Given the description of an element on the screen output the (x, y) to click on. 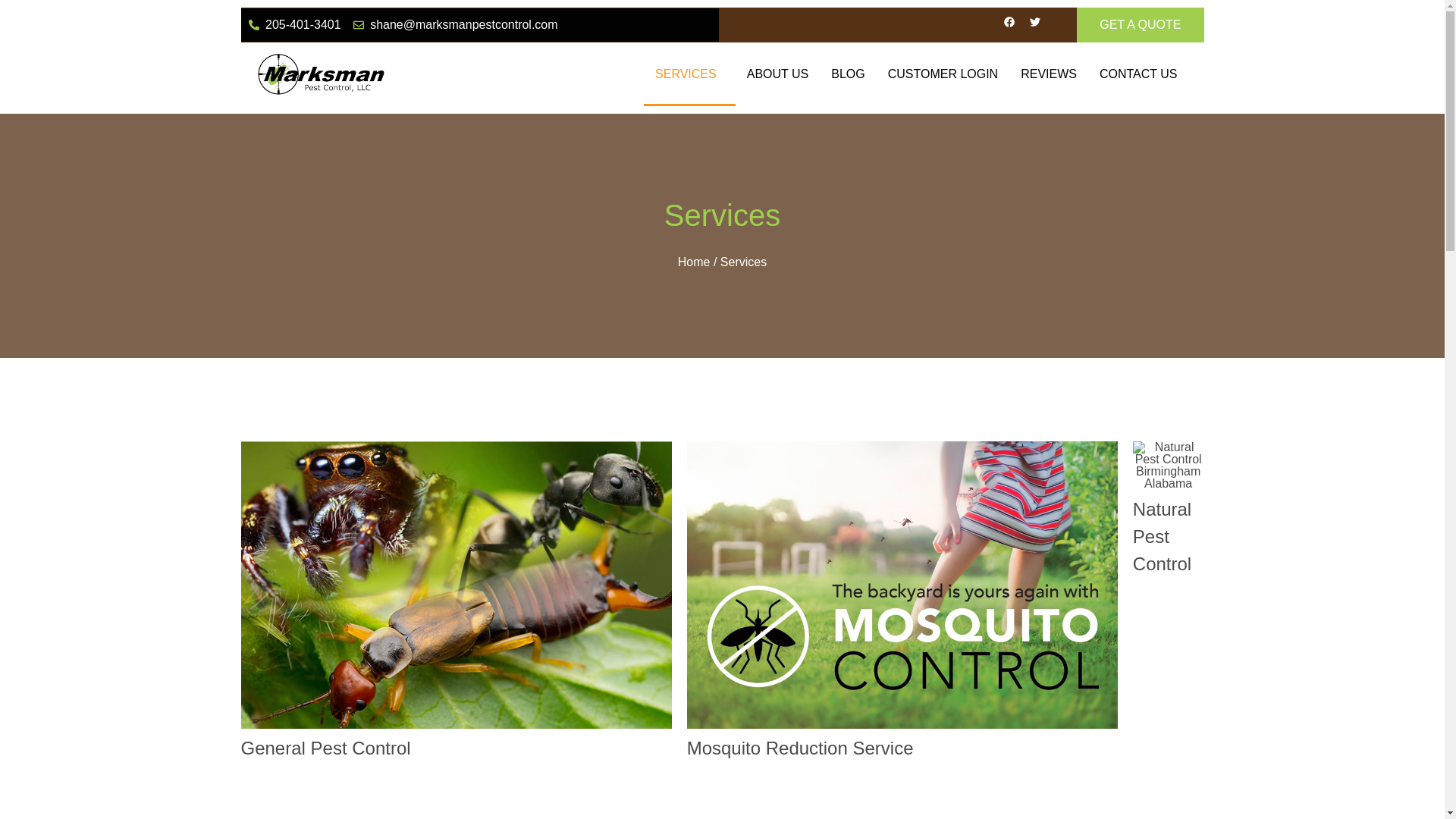
GET A QUOTE (1140, 24)
205-401-3401 (294, 24)
REVIEWS (1048, 74)
SERVICES (689, 74)
CONTACT US (1138, 74)
ABOUT US (778, 74)
CUSTOMER LOGIN (943, 74)
